Given the description of an element on the screen output the (x, y) to click on. 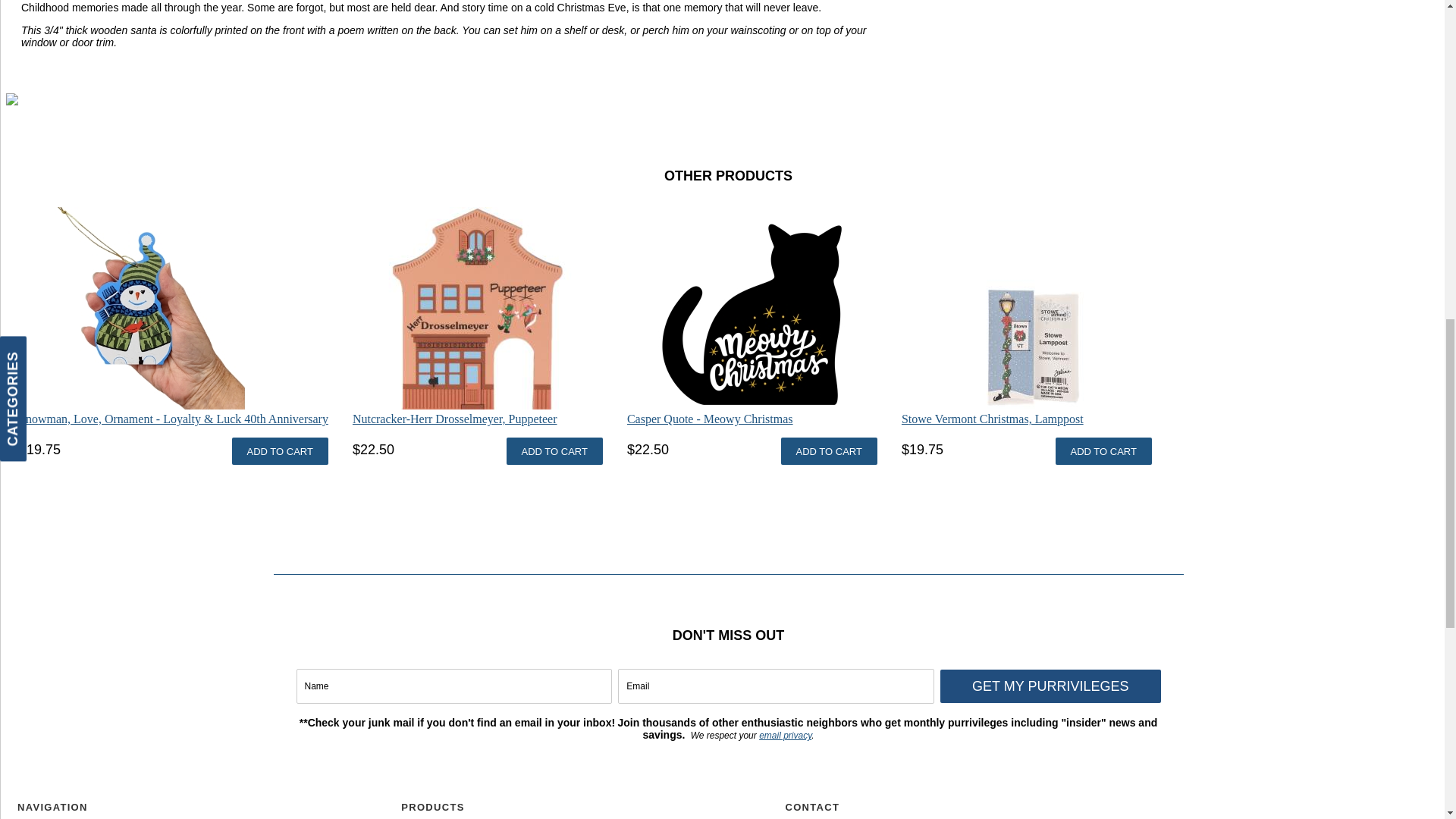
Name (453, 686)
Email (775, 686)
Get My Purrivileges (1050, 685)
